Given the description of an element on the screen output the (x, y) to click on. 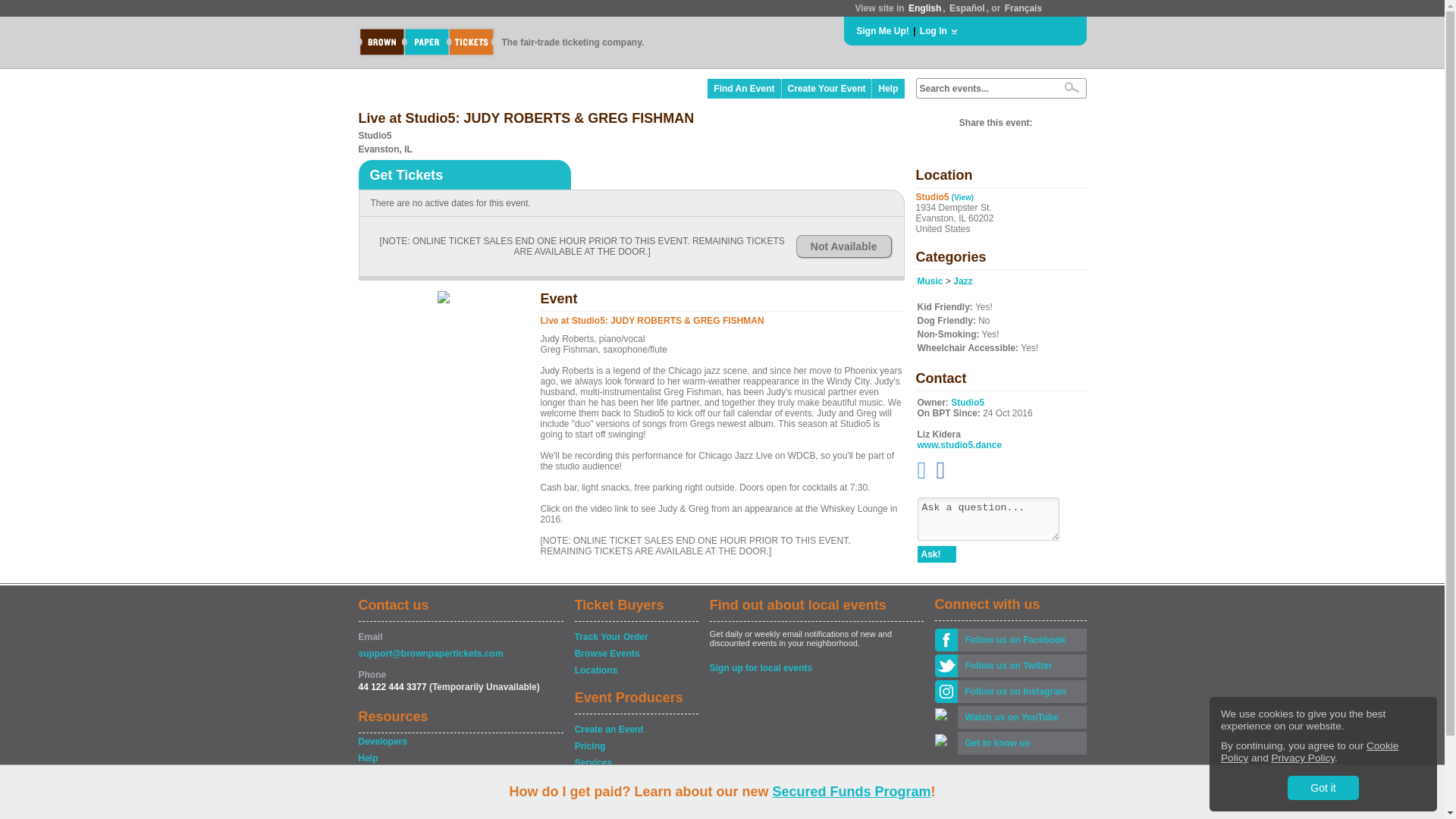
Buy Pre-Printed Tickets (636, 779)
Music (930, 281)
Search events... (984, 88)
English (924, 8)
www.studio5.dance (960, 444)
Create an Event (636, 729)
Privacy Policy (1303, 757)
Locations (636, 670)
Create Your Event (826, 88)
Help (888, 88)
